Given the description of an element on the screen output the (x, y) to click on. 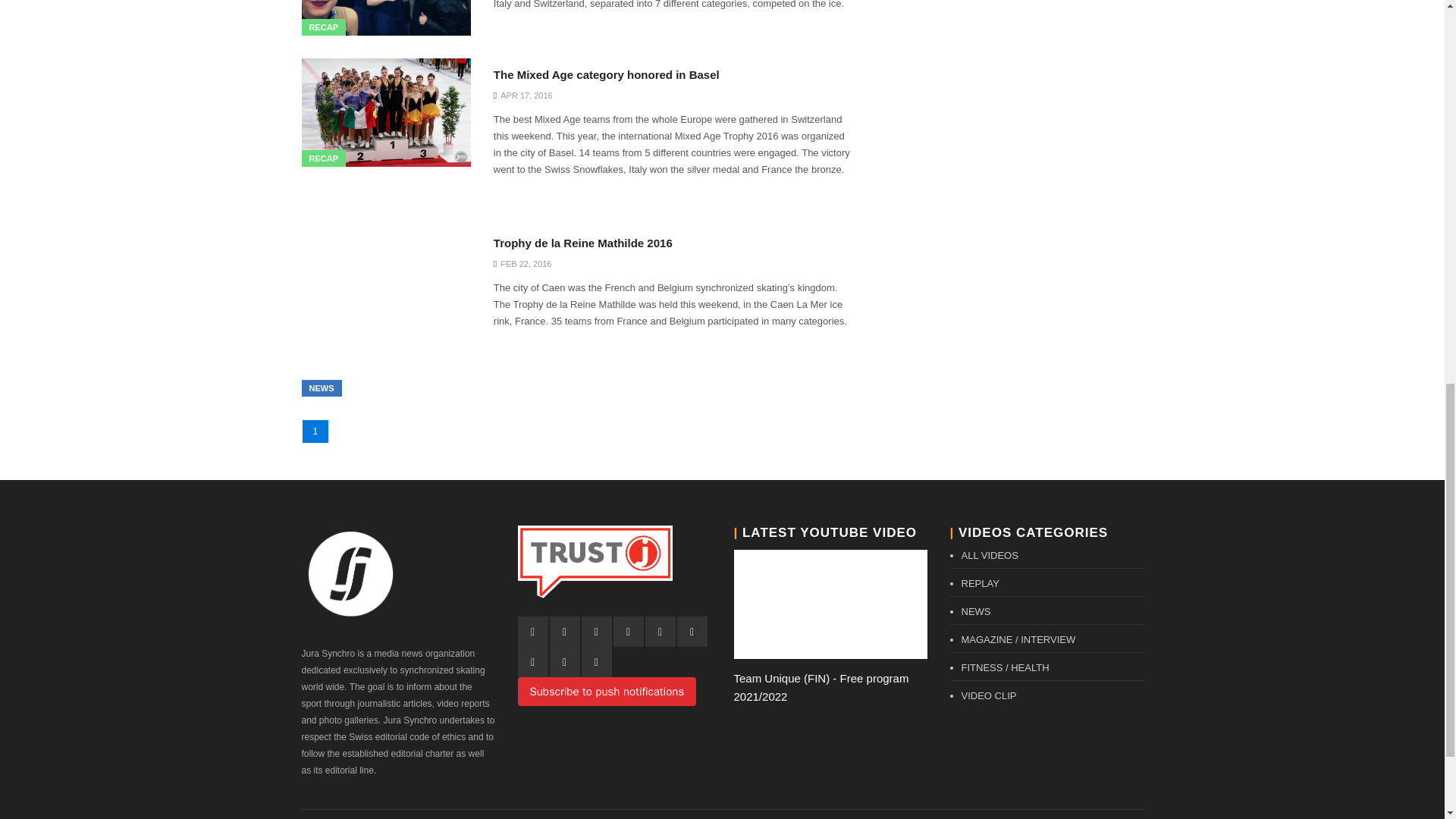
RECAP (323, 27)
RECAP (323, 158)
